Given the description of an element on the screen output the (x, y) to click on. 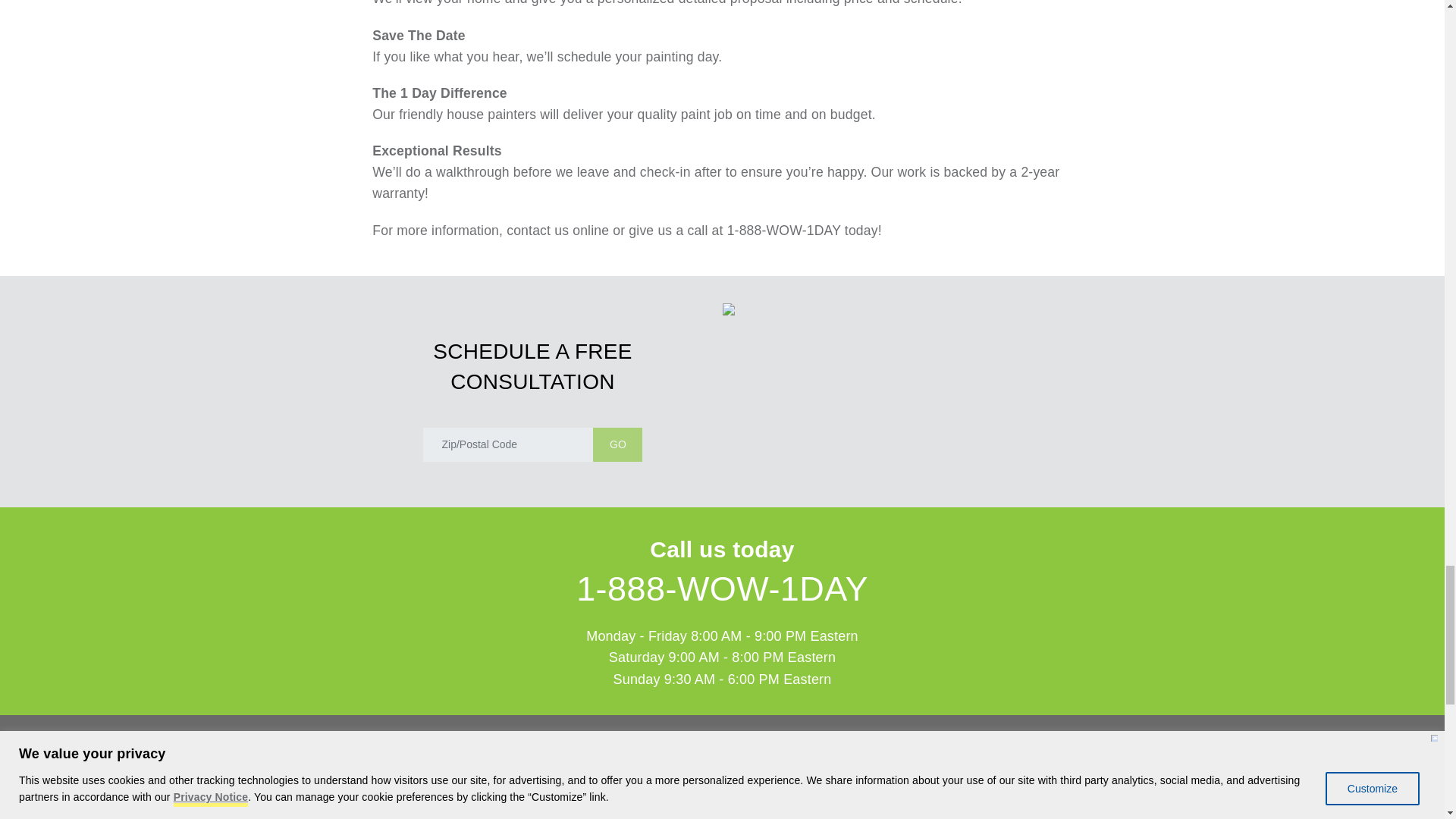
1-888-WOW-1DAY (721, 588)
Image (722, 789)
GO (617, 444)
